Given the description of an element on the screen output the (x, y) to click on. 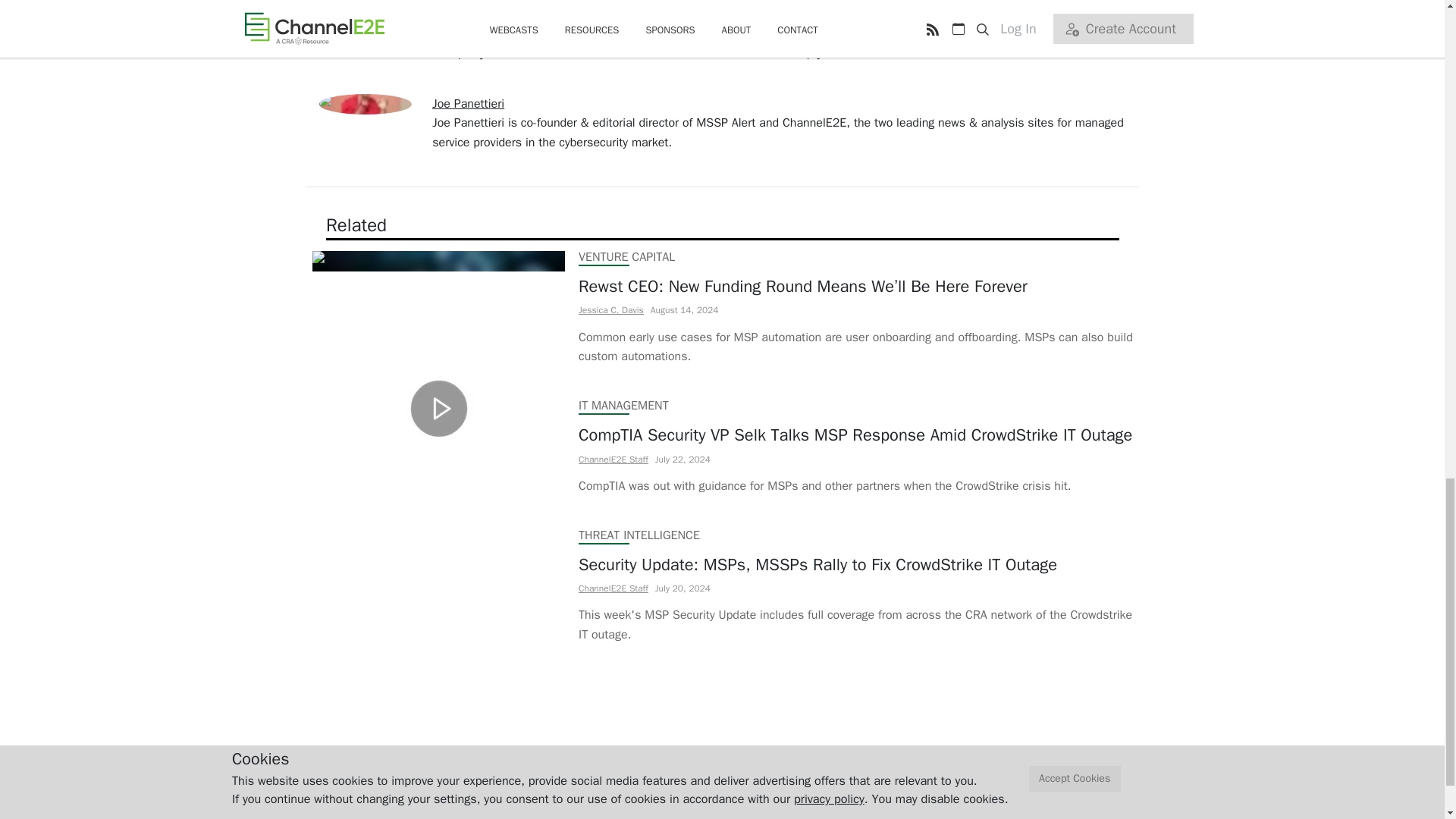
IT MANAGEMENT (623, 405)
VENTURE CAPITAL (626, 255)
Jessica C. Davis (610, 309)
ChannelE2E Staff (612, 588)
THREAT INTELLIGENCE (638, 534)
ChannelE2E Staff (612, 458)
Joe Panettieri (467, 103)
